Given the description of an element on the screen output the (x, y) to click on. 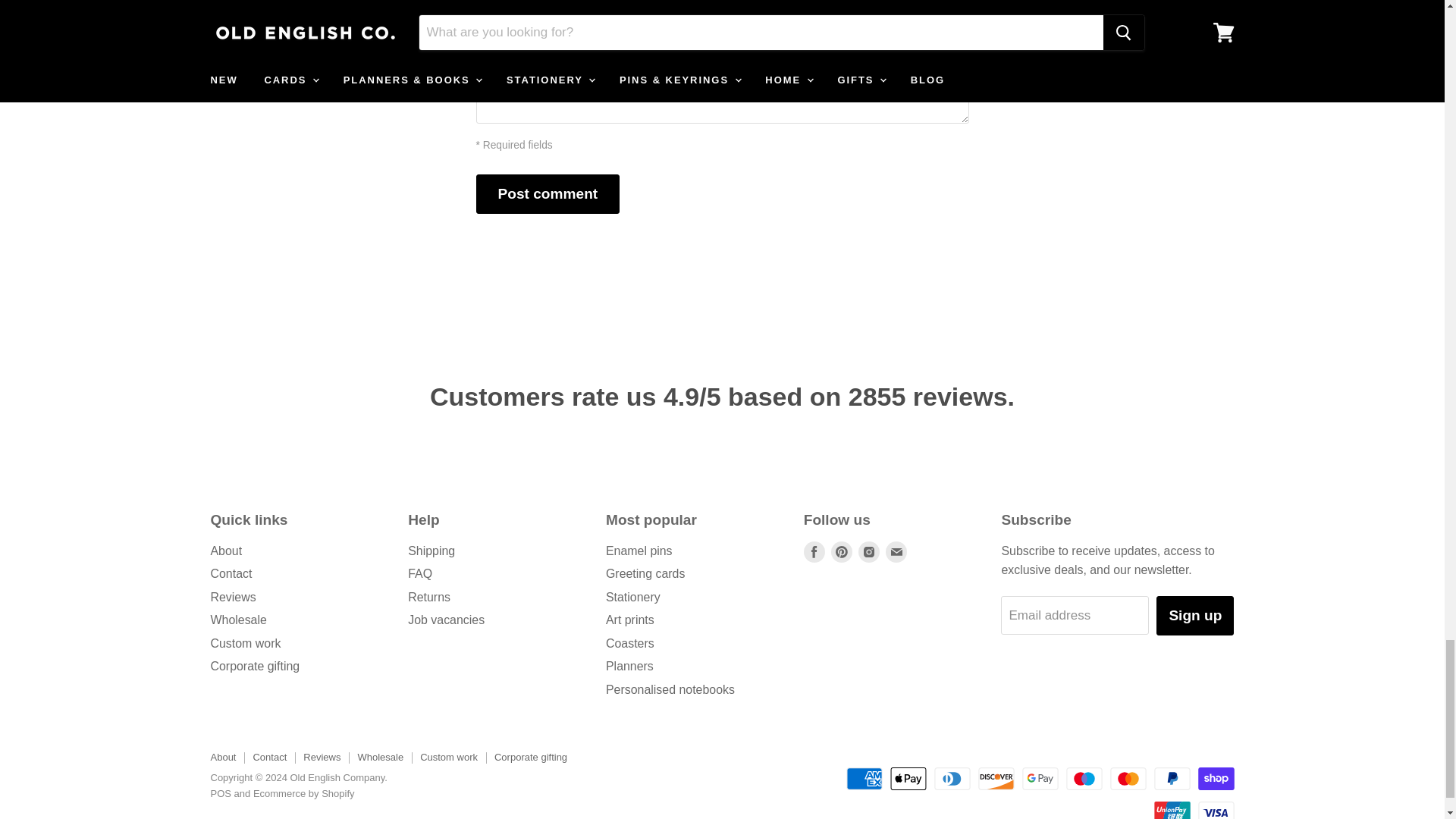
American Express (863, 778)
Diners Club (952, 778)
Discover (996, 778)
E-mail (896, 551)
Apple Pay (907, 778)
Instagram (869, 551)
Facebook (814, 551)
Pinterest (841, 551)
